Given the description of an element on the screen output the (x, y) to click on. 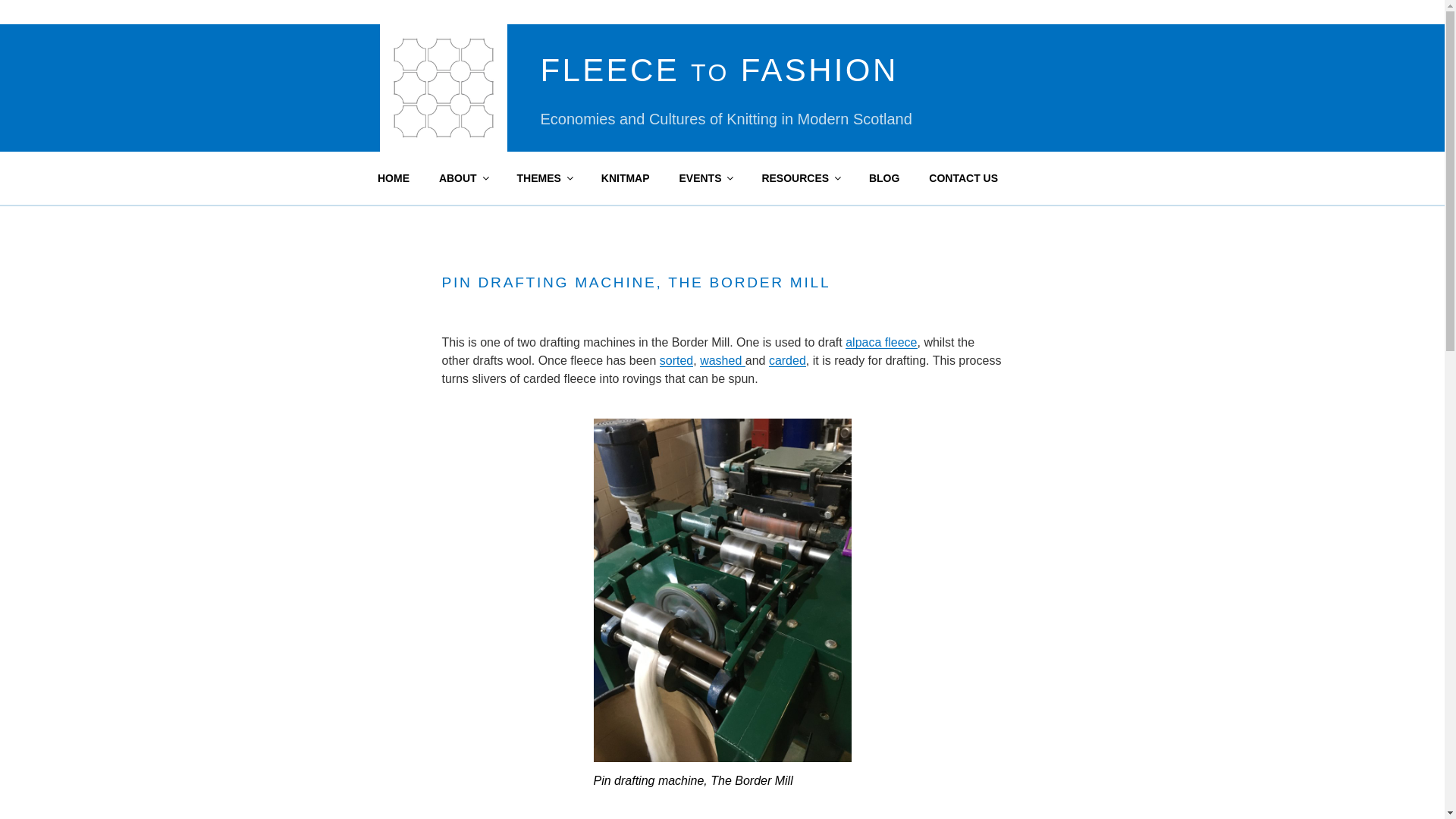
FLEECE TO FASHION (719, 69)
KNITMAP (625, 177)
ABOUT (462, 177)
EVENTS (705, 177)
THEMES (544, 177)
HOME (393, 177)
RESOURCES (800, 177)
